Given the description of an element on the screen output the (x, y) to click on. 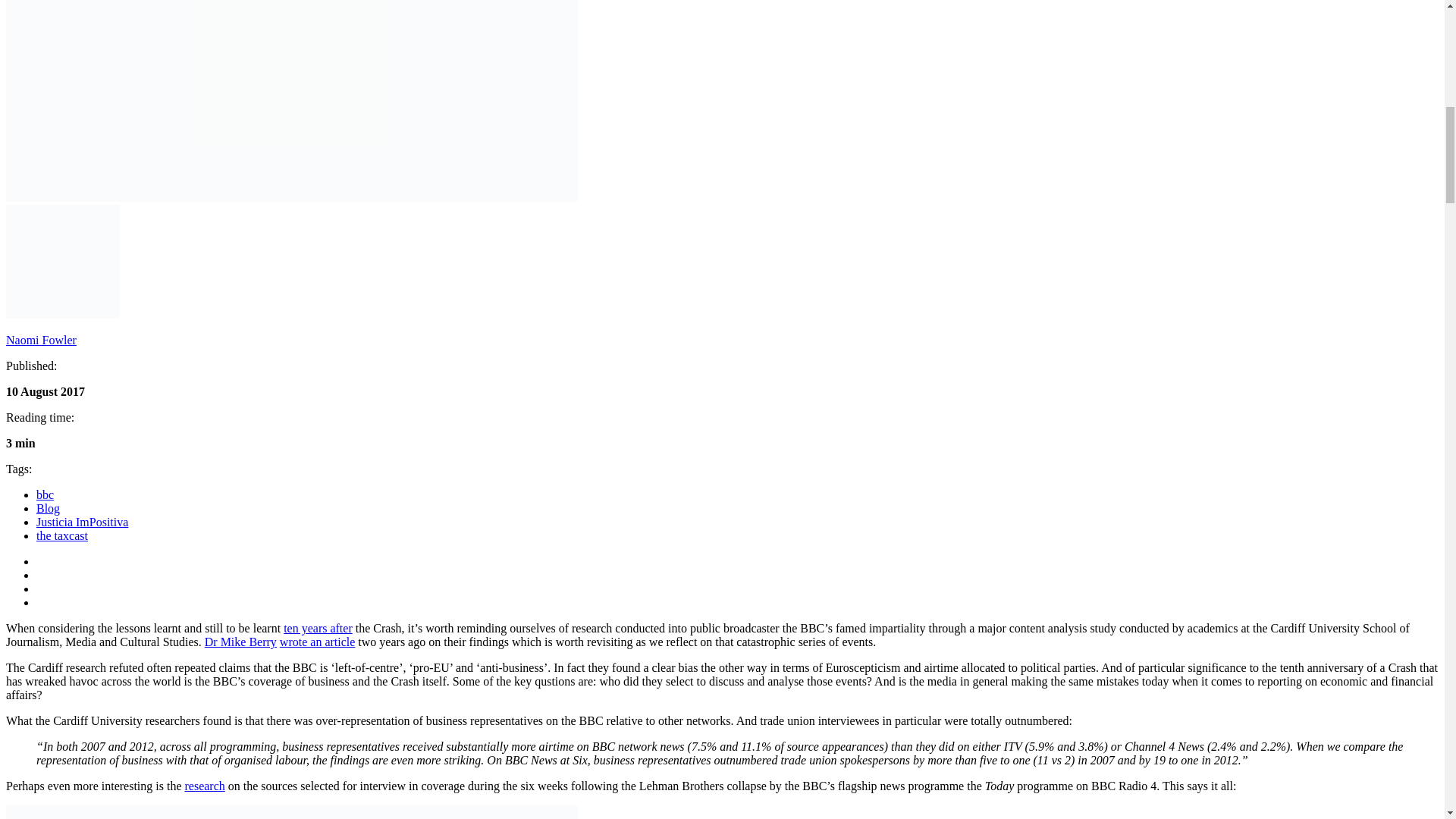
PM Keir Starmer and President Biden speak at NATO Summit (409, 764)
shell games3 (955, 764)
